Given the description of an element on the screen output the (x, y) to click on. 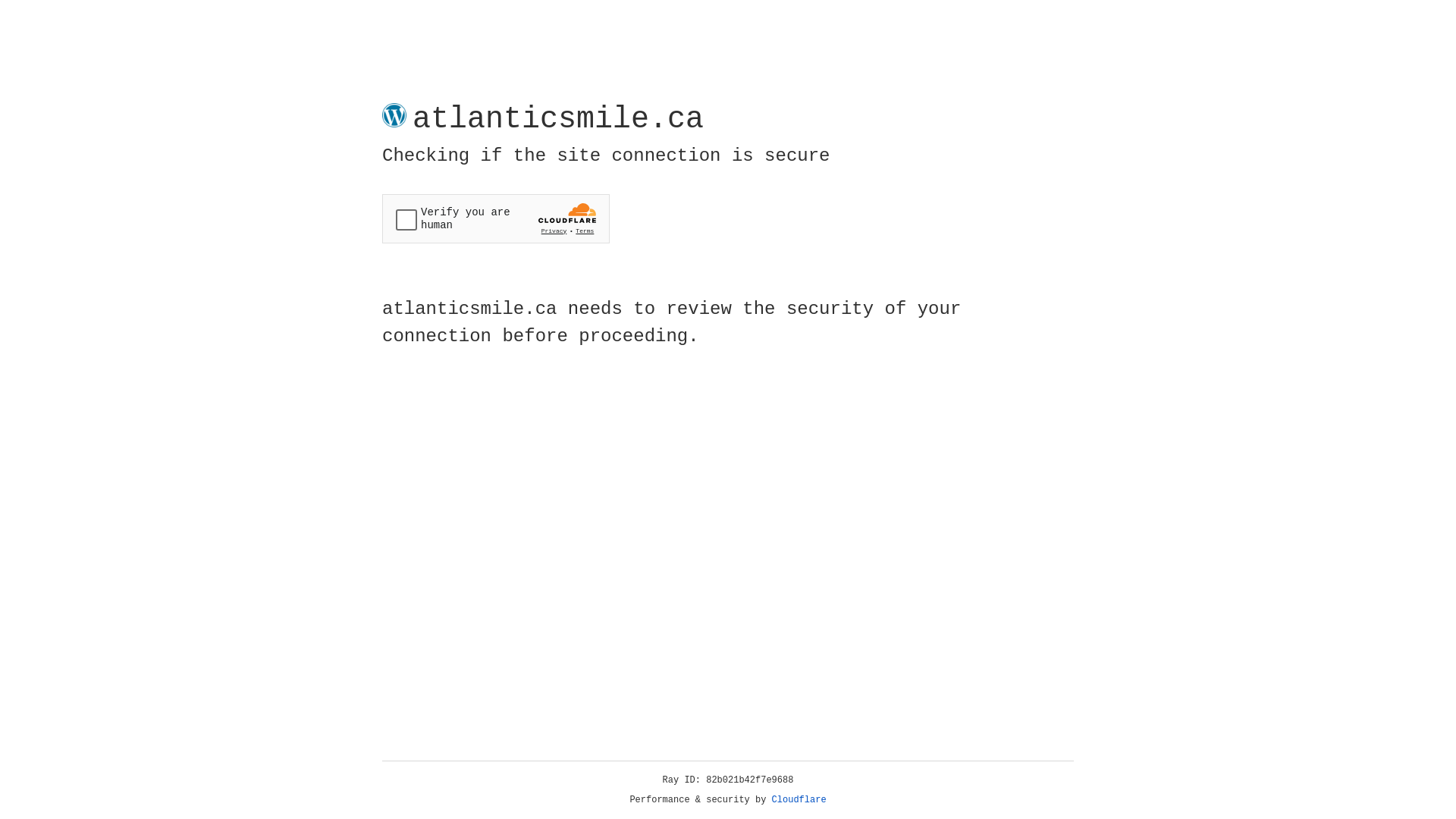
Cloudflare Element type: text (798, 799)
Widget containing a Cloudflare security challenge Element type: hover (495, 218)
